Given the description of an element on the screen output the (x, y) to click on. 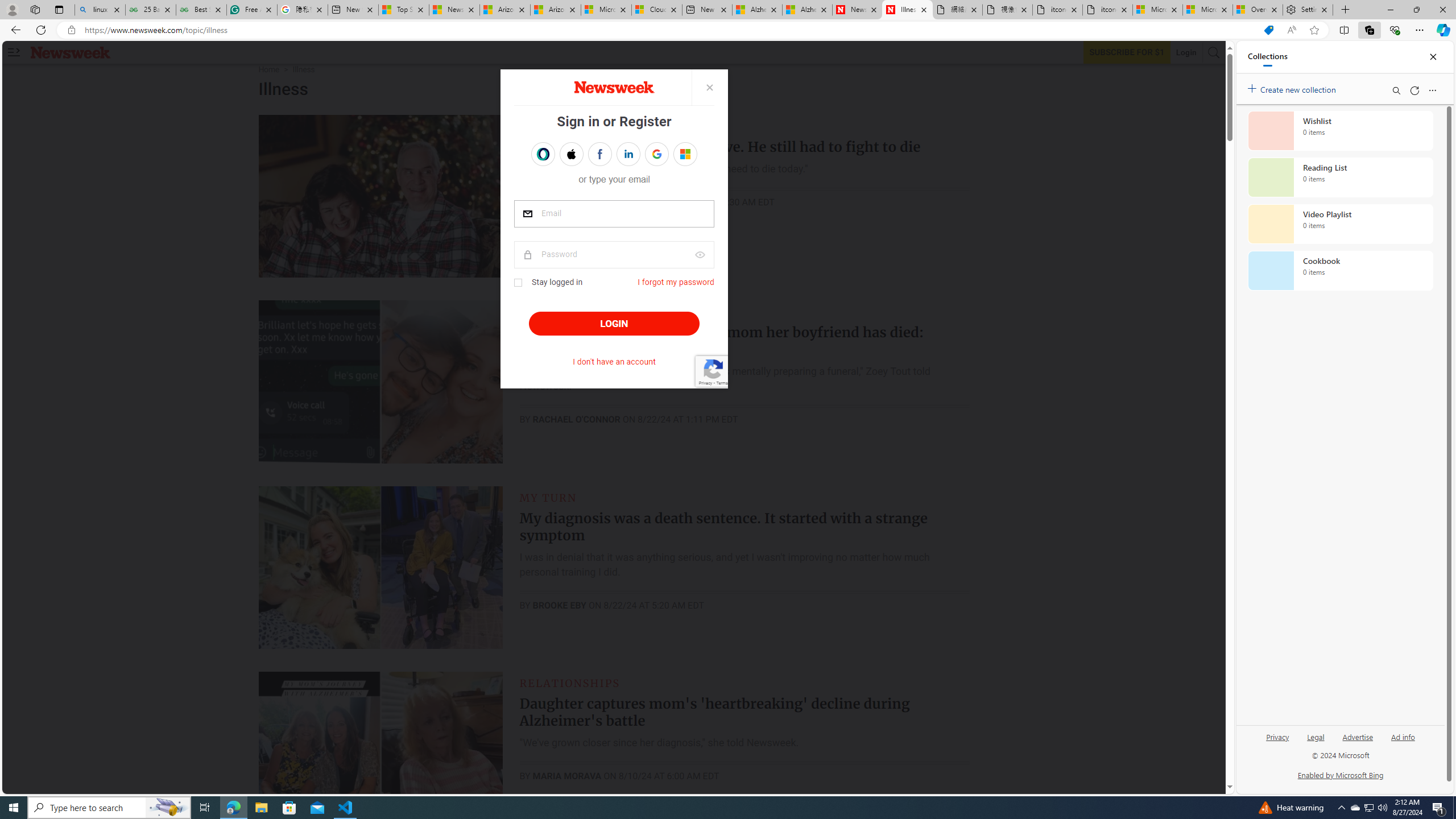
Login (1186, 51)
AutomationID: side-arrow (13, 51)
Newsweek - News, Analysis, Politics, Business, Technology (856, 9)
Sign in with GOOGLE (656, 154)
Sign in with LINKEDIN (627, 154)
Sign in with APPLE (571, 154)
MY TURN (547, 497)
Cookbook collection, 0 items (1339, 270)
